Given the description of an element on the screen output the (x, y) to click on. 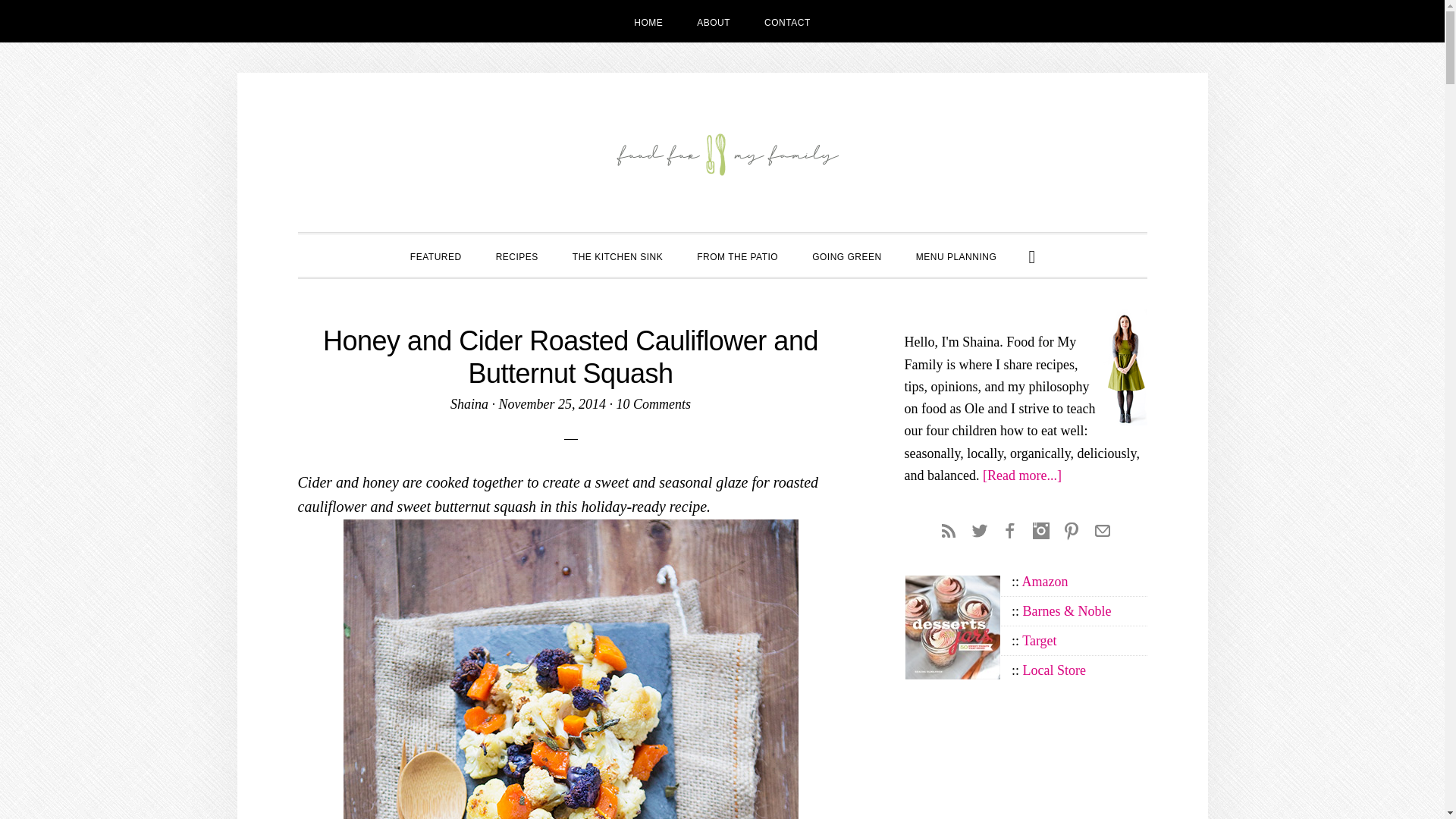
Desserts In Jars (952, 585)
About me (1123, 319)
ABOUT (713, 21)
Subscribe to the Feed (948, 527)
FOOD FOR MY FAMILY (721, 156)
CONTACT (787, 21)
Food for My Family on Facebook (1009, 527)
FEATURED (435, 255)
Email Shaina (1102, 527)
Food for My Family on Instagram (1040, 527)
HOME (648, 21)
Food for My Family on Pinterest (1071, 527)
RECIPES (516, 255)
